Given the description of an element on the screen output the (x, y) to click on. 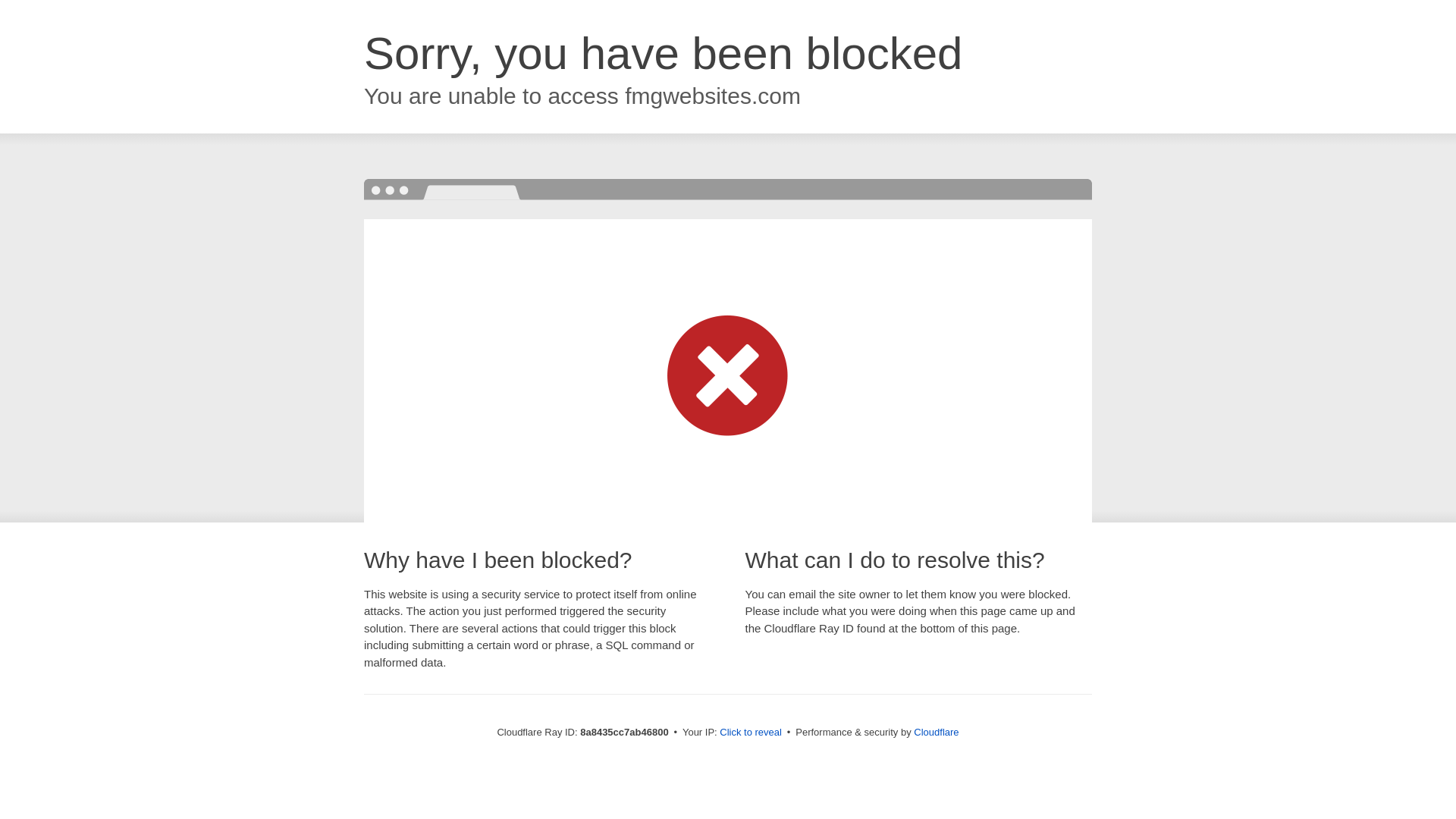
Click to reveal (750, 732)
Cloudflare (936, 731)
